Given the description of an element on the screen output the (x, y) to click on. 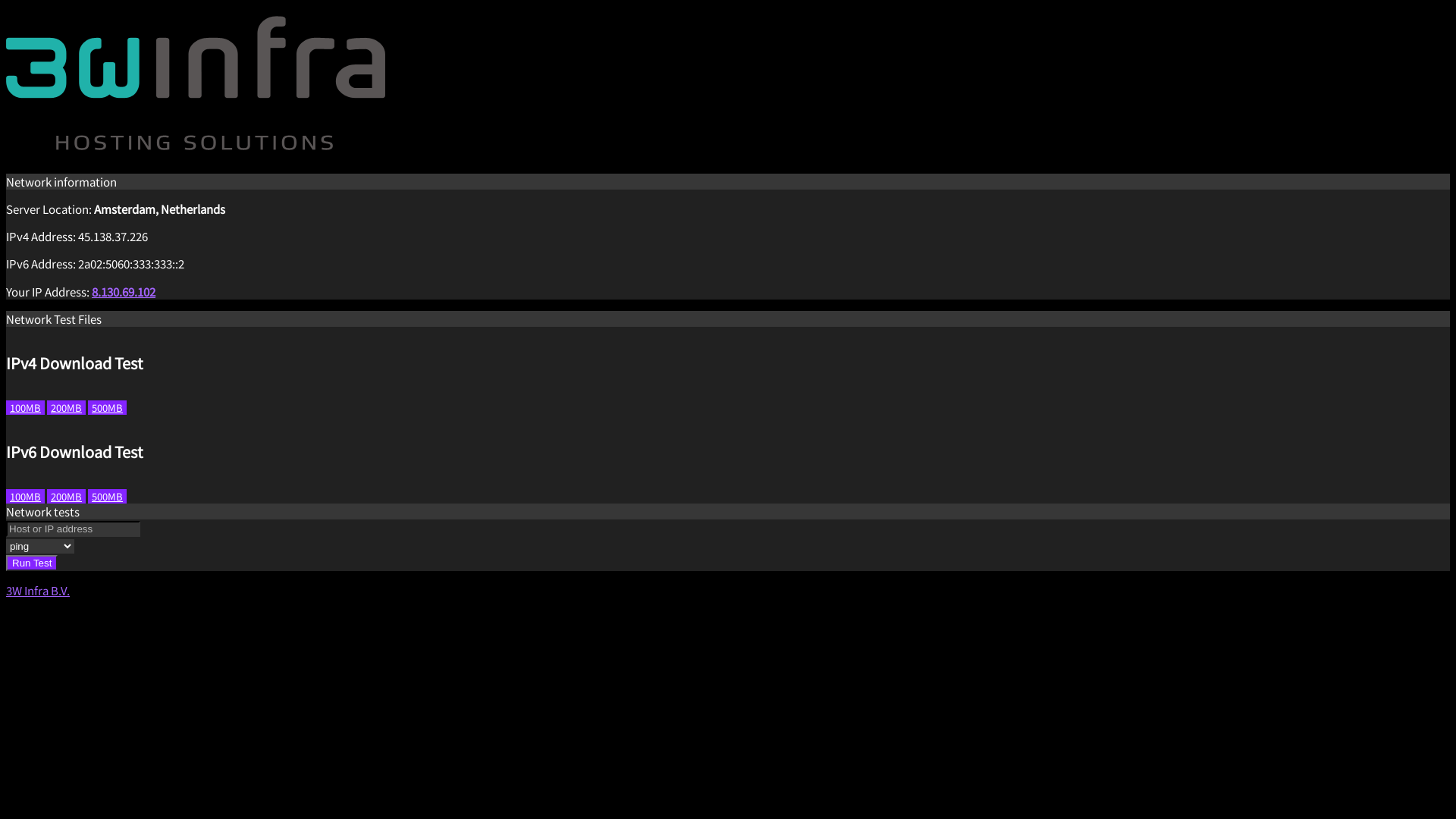
3W Infra B.V. Element type: text (37, 590)
200MB Element type: text (66, 496)
100MB Element type: text (25, 496)
500MB Element type: text (106, 496)
Run Test Element type: text (31, 563)
200MB Element type: text (66, 407)
8.130.69.102 Element type: text (123, 291)
100MB Element type: text (25, 407)
500MB Element type: text (106, 407)
